Given the description of an element on the screen output the (x, y) to click on. 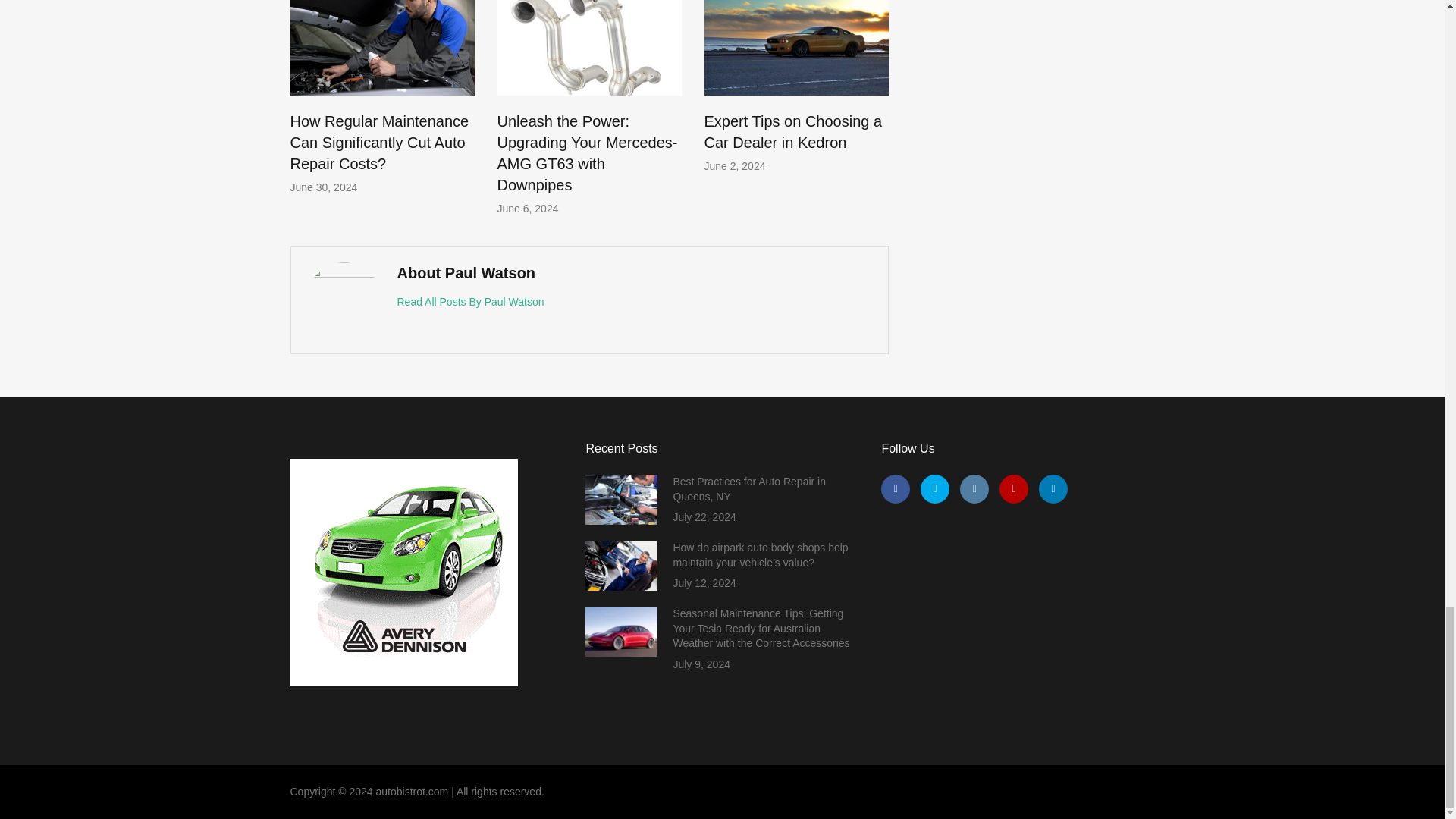
Expert Tips on Choosing a Car Dealer in Kedron (792, 131)
Read All Posts By Paul Watson (470, 301)
